Given the description of an element on the screen output the (x, y) to click on. 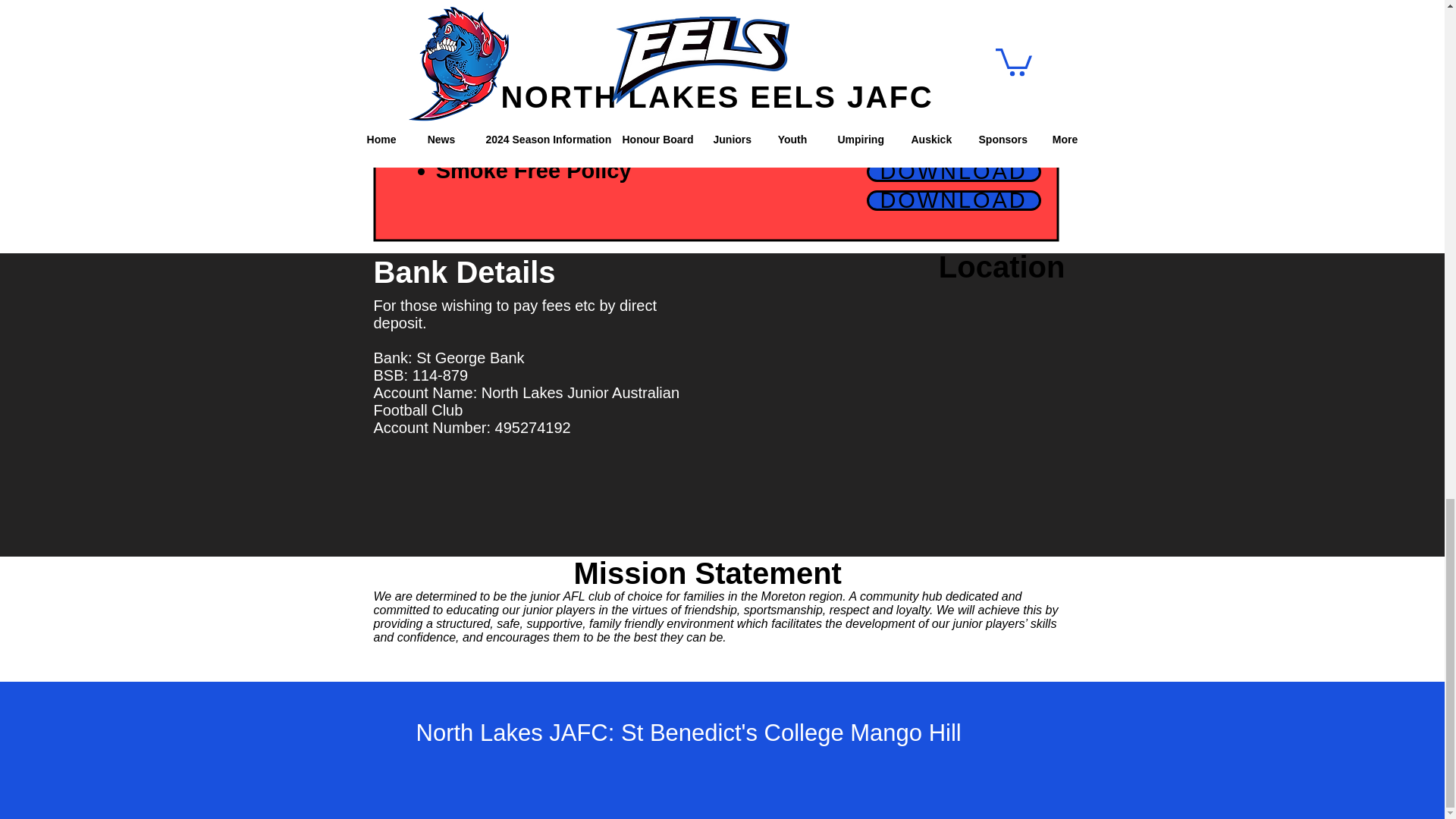
DOWNLOAD (953, 171)
DOWNLOAD (953, 52)
DOWNLOAD (953, 200)
DOWNLOAD (953, 82)
DOWNLOAD (953, 111)
DOWNLOAD (953, 23)
DOWNLOAD (953, 141)
